Given the description of an element on the screen output the (x, y) to click on. 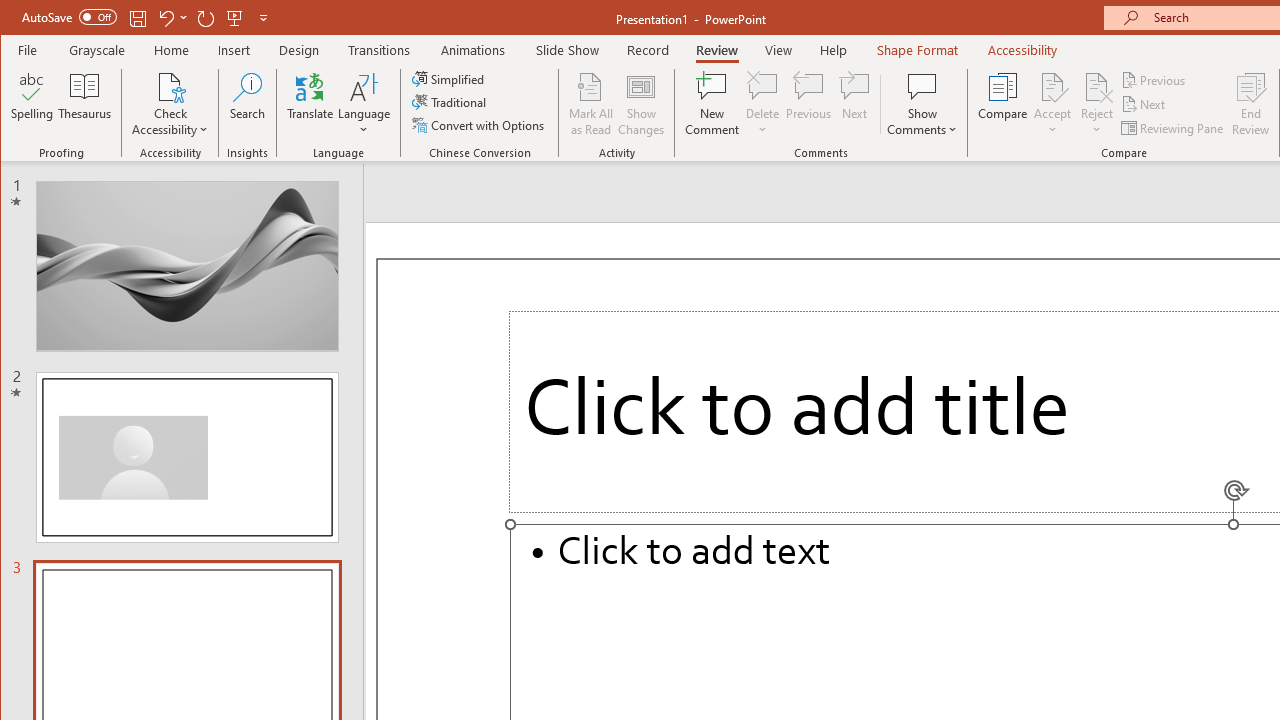
Reject Change (1096, 86)
Show Changes (640, 104)
End Review (1251, 104)
Convert with Options... (479, 124)
Traditional (450, 101)
Previous (1154, 80)
Language (363, 104)
Thesaurus... (84, 104)
Delete (762, 104)
Shape Format (916, 50)
Mark All as Read (591, 104)
